Given the description of an element on the screen output the (x, y) to click on. 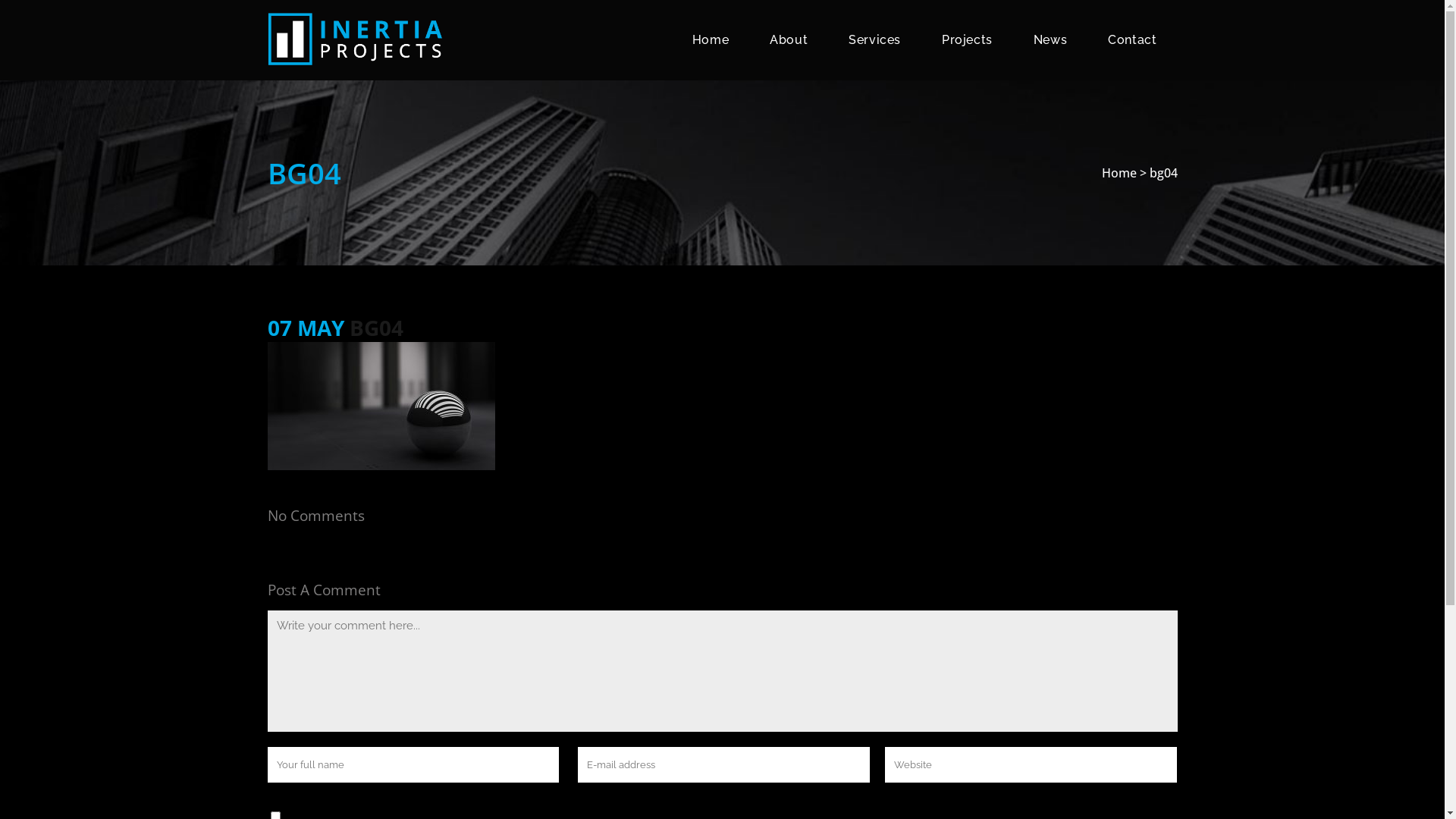
About Element type: text (788, 40)
Contact Element type: text (1131, 40)
Services Element type: text (874, 40)
Projects Element type: text (967, 40)
Home Element type: text (1118, 172)
Home Element type: text (710, 40)
News Element type: text (1050, 40)
